Given the description of an element on the screen output the (x, y) to click on. 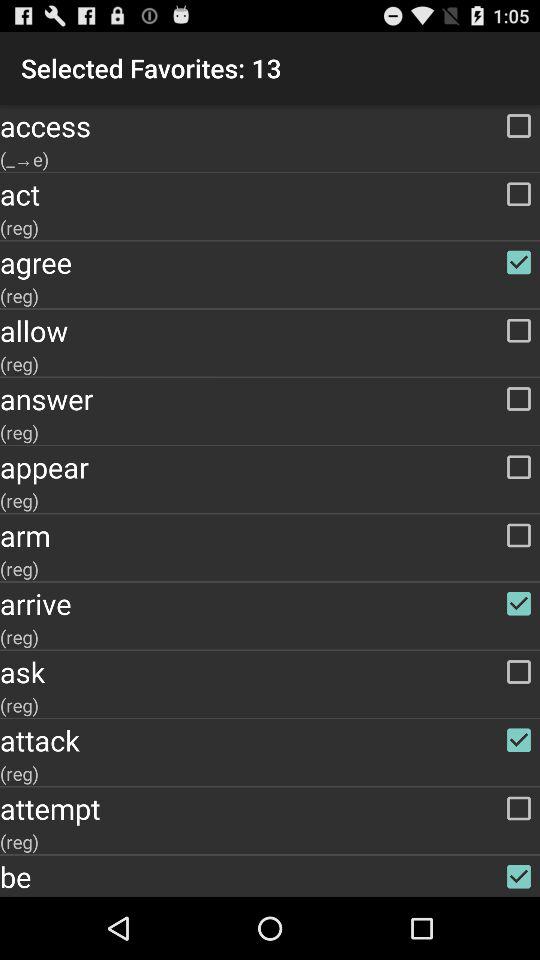
swipe to the ask checkbox (270, 672)
